Given the description of an element on the screen output the (x, y) to click on. 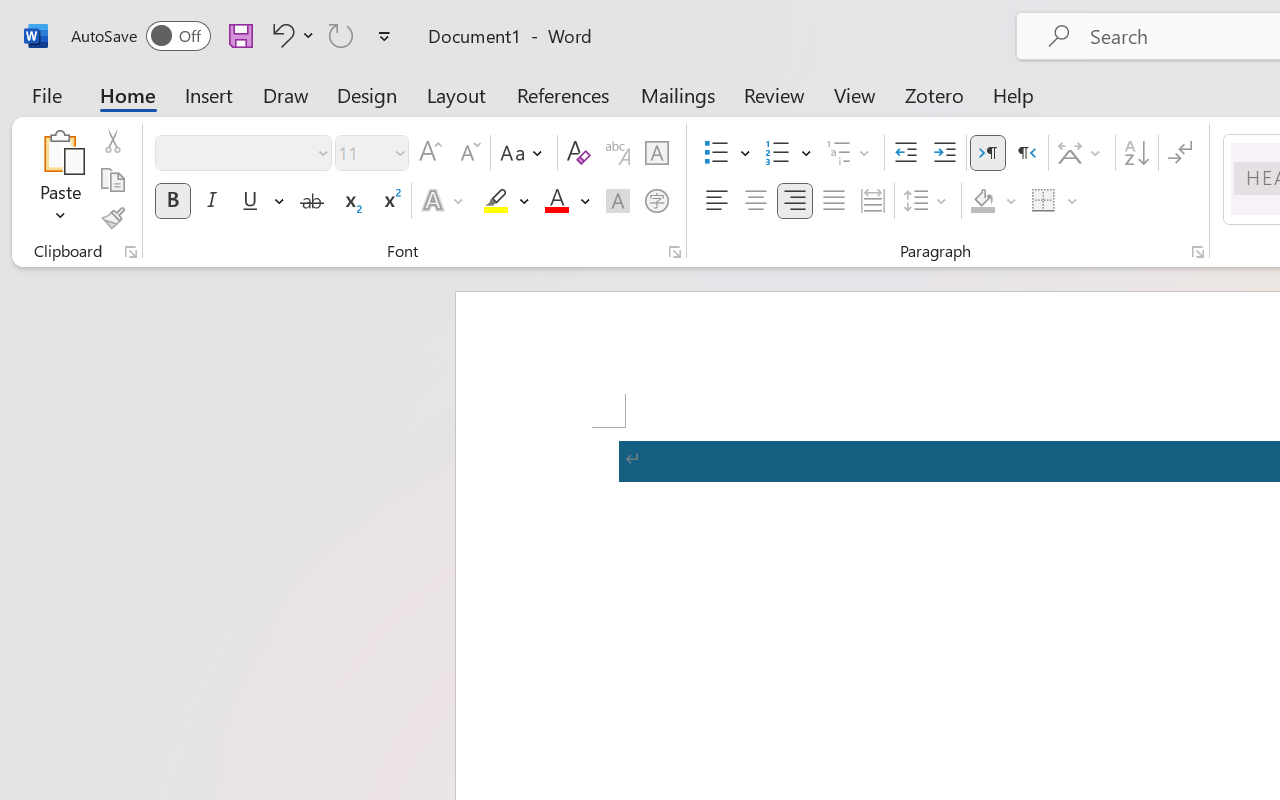
Undo (290, 35)
Font Color RGB(255, 0, 0) (556, 201)
